Given the description of an element on the screen output the (x, y) to click on. 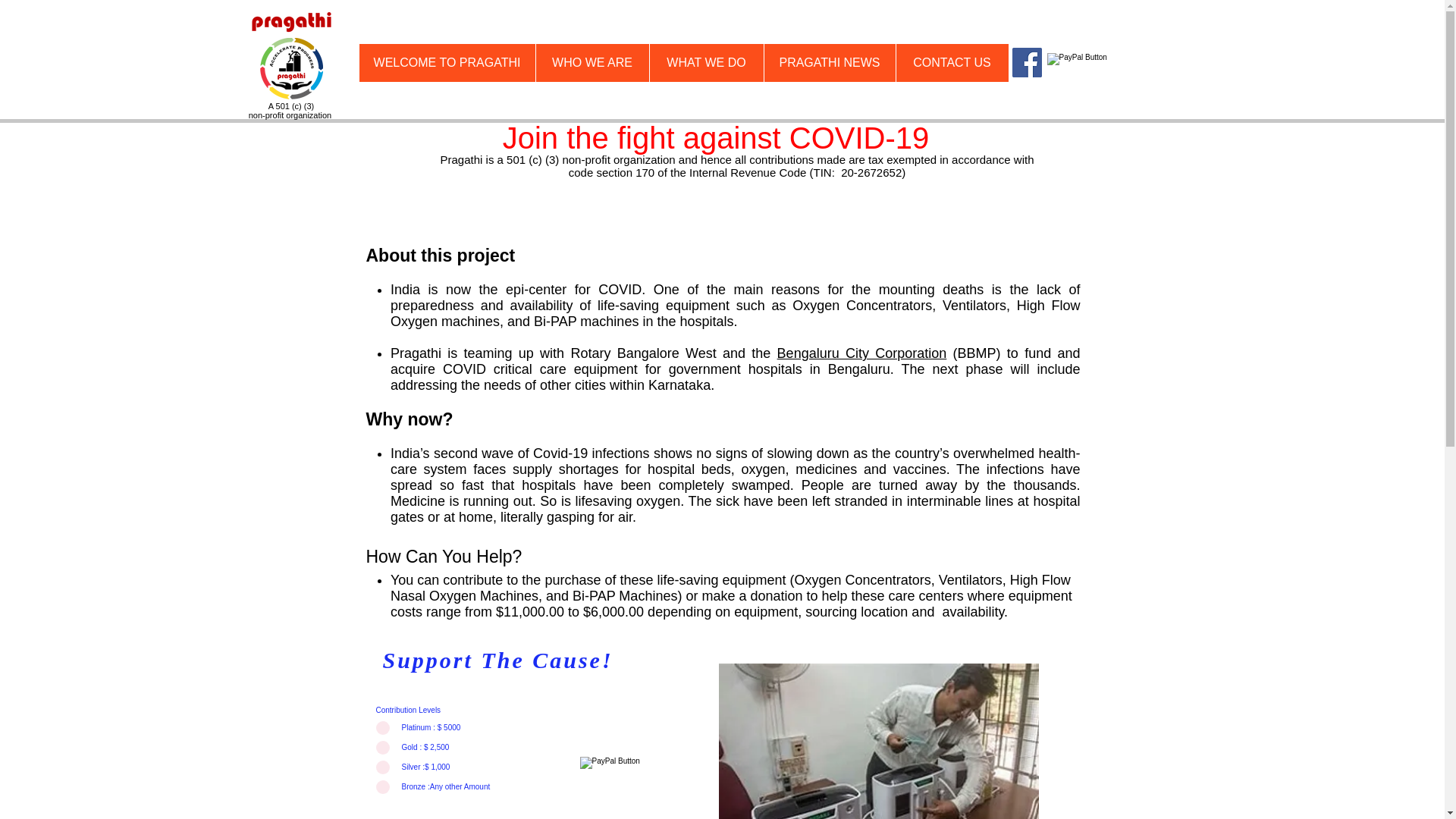
WELCOME TO PRAGATHI (447, 62)
CONTACT US (951, 62)
Bengaluru City Corporation (862, 353)
